Given the description of an element on the screen output the (x, y) to click on. 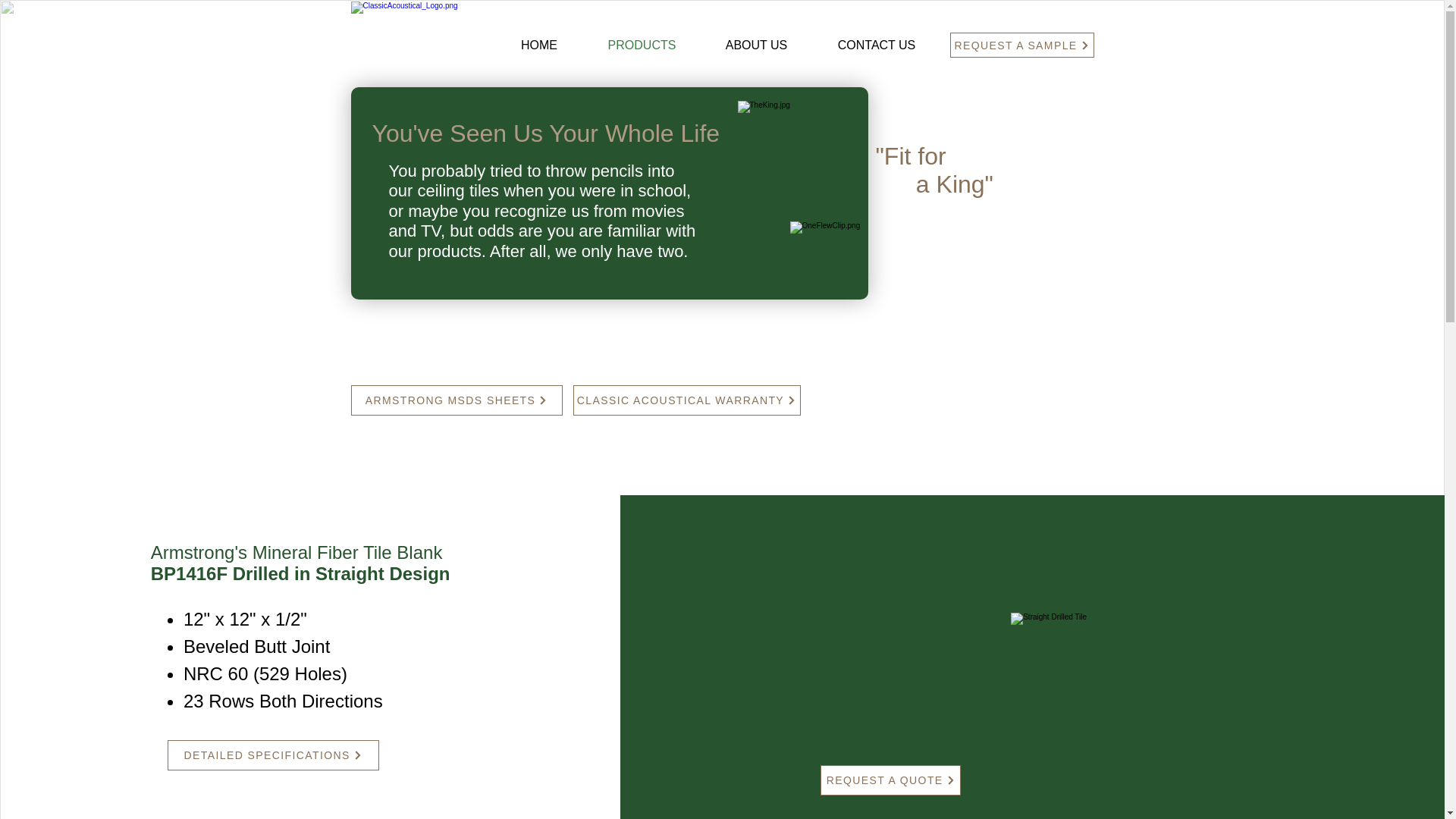
CLASSIC ACOUSTICAL WARRANTY (686, 399)
ABOUT US (756, 45)
REQUEST A SAMPLE (1021, 44)
PRODUCTS (641, 45)
CONTACT US (876, 45)
ARMSTRONG MSDS SHEETS (456, 399)
DETAILED SPECIFICATIONS (272, 755)
HOME (539, 45)
REQUEST A QUOTE (890, 779)
